Given the description of an element on the screen output the (x, y) to click on. 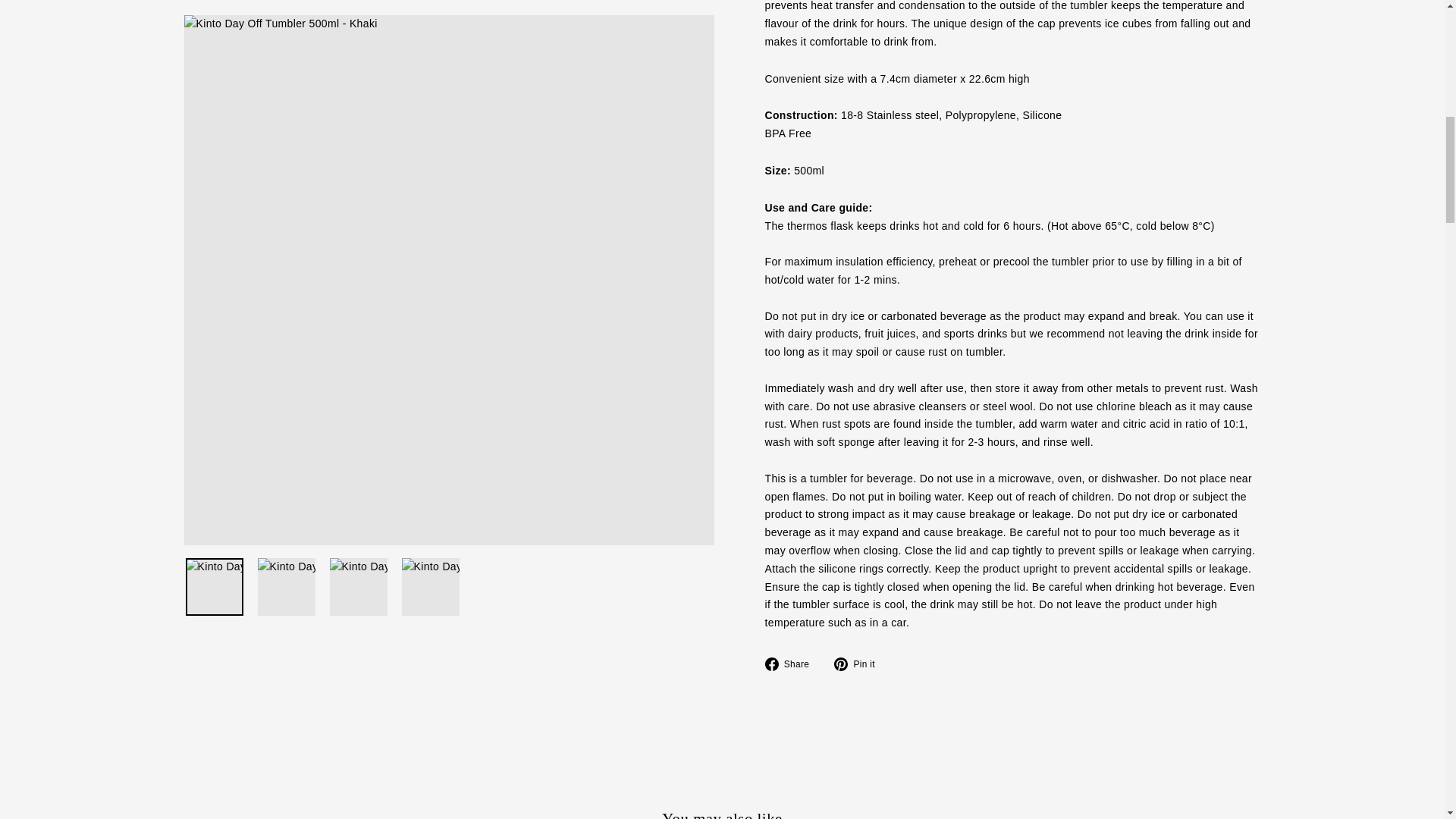
Pin on Pinterest (860, 664)
Share on Facebook (792, 664)
